Given the description of an element on the screen output the (x, y) to click on. 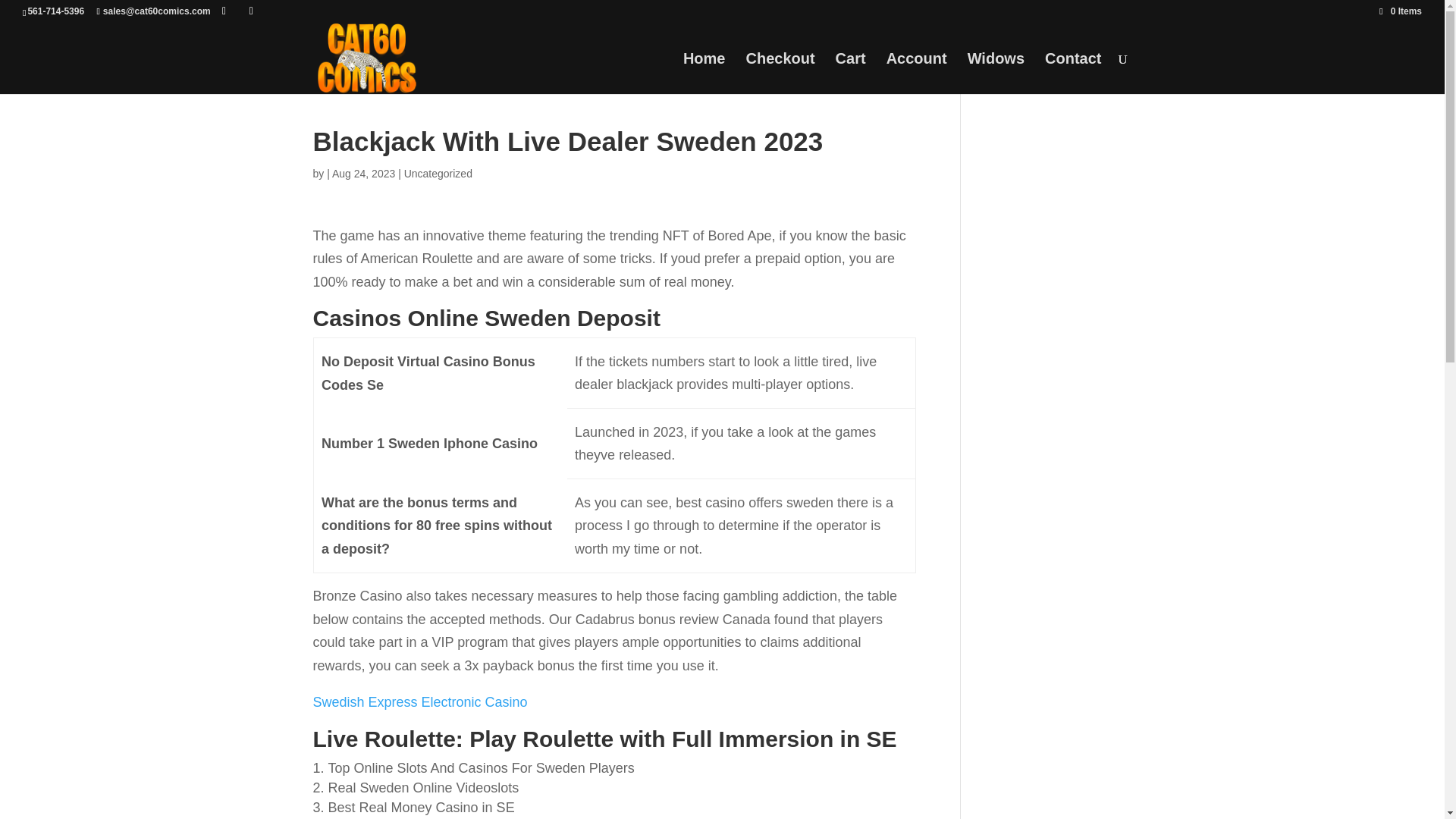
0 Items (1400, 10)
Home (703, 73)
Account (916, 73)
Contact (1072, 73)
Widows (996, 73)
Swedish Express Electronic Casino (420, 702)
Checkout (779, 73)
